Given the description of an element on the screen output the (x, y) to click on. 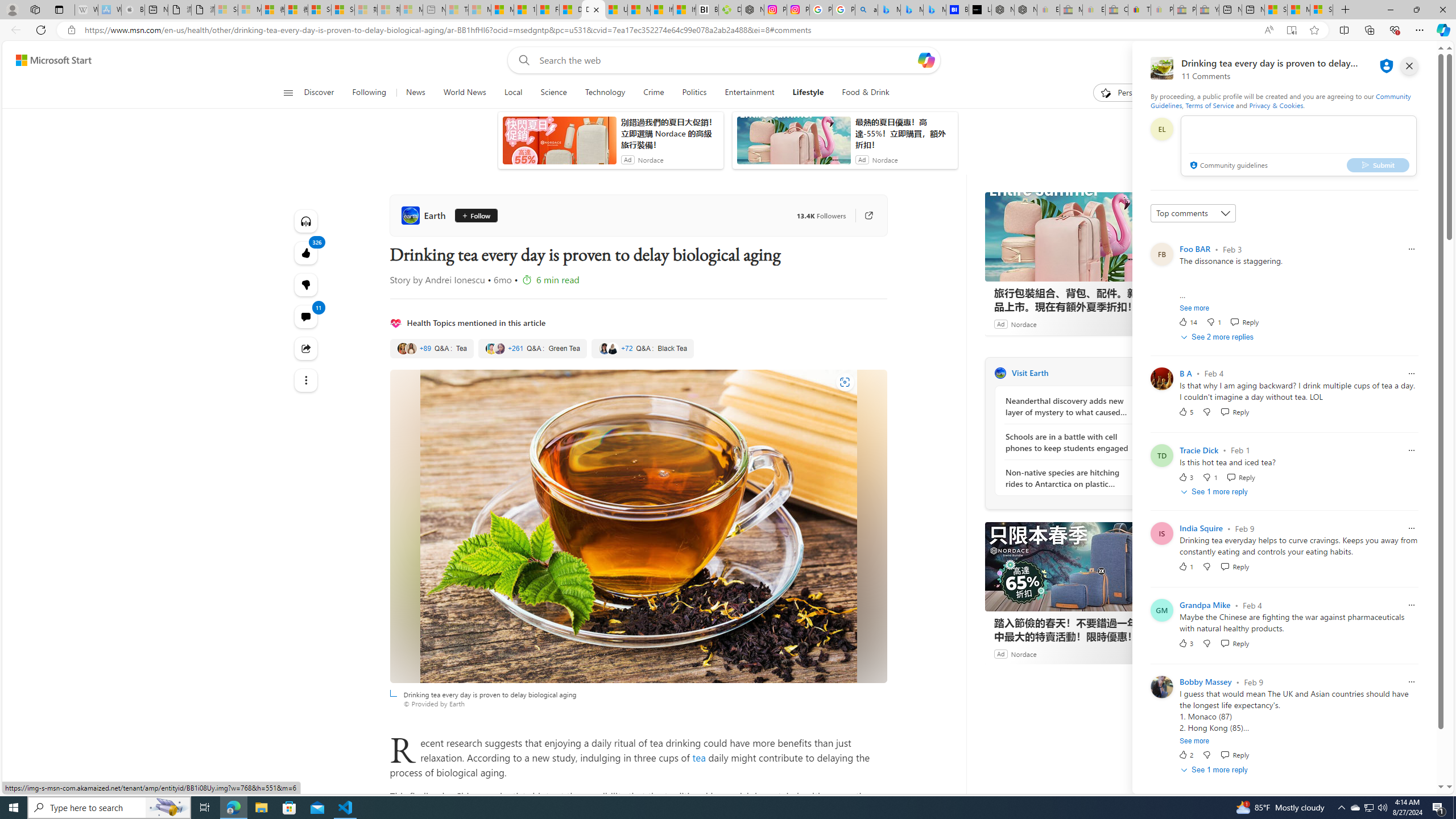
Green Tea (532, 348)
See more (1194, 740)
Collections (1369, 29)
App bar (728, 29)
Entertainment (749, 92)
Open Copilot (925, 59)
Share this story (305, 348)
Nordace - Nordace Edin Collection (752, 9)
Reply Reply Comment (1234, 754)
Shanghai, China hourly forecast | Microsoft Weather (1275, 9)
Food and Drink - MSN (547, 9)
Web search (520, 60)
Profile Picture (1161, 686)
Refresh (40, 29)
